Given the description of an element on the screen output the (x, y) to click on. 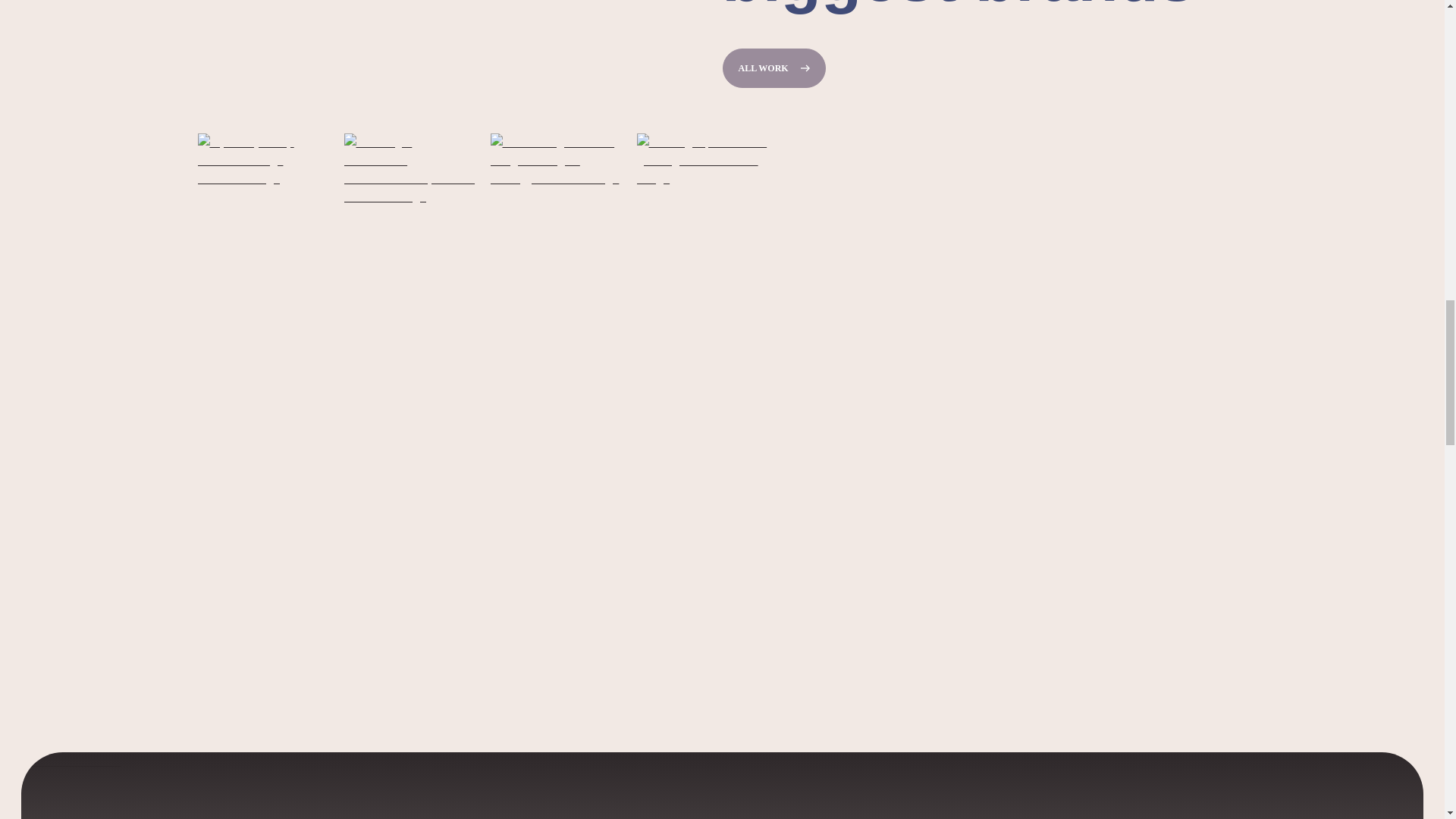
ALL WORK (773, 67)
